Given the description of an element on the screen output the (x, y) to click on. 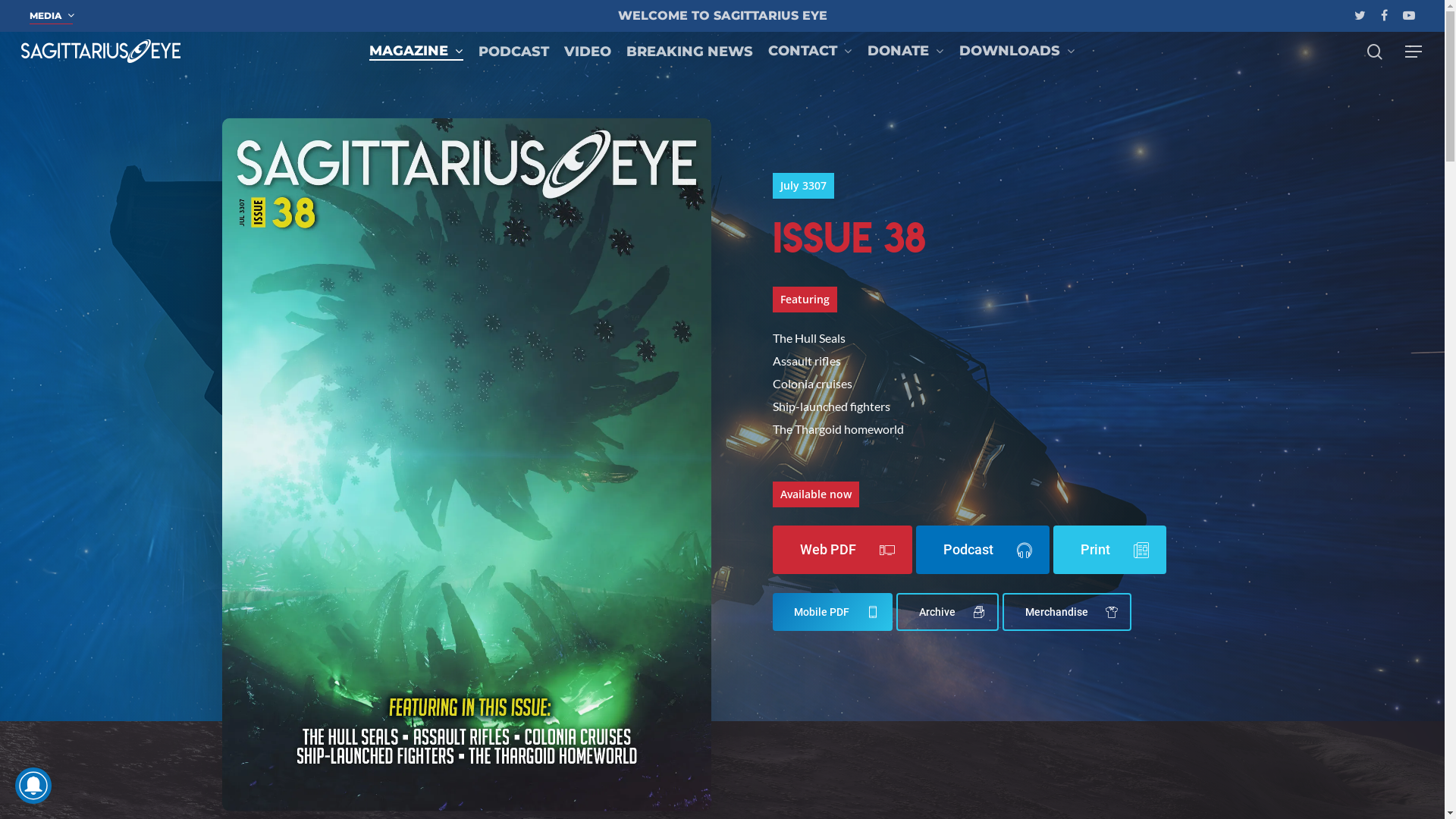
YouTube Element type: text (904, 668)
Send in a submission Element type: text (689, 591)
VIDEO Element type: text (587, 50)
Disclaimers & legal Element type: text (689, 678)
Twitter Element type: text (904, 610)
Merchandise Element type: text (1066, 611)
Web PDF Element type: text (842, 549)
Video Element type: text (904, 505)
Magazine Element type: text (904, 447)
Podcast Element type: text (904, 476)
Podcast Element type: text (982, 549)
Archive Element type: text (689, 620)
DOWNLOADS Element type: text (1017, 50)
MAGAZINE Element type: text (416, 50)
Homepage Element type: text (689, 447)
PODCAST Element type: text (513, 50)
MEDIA Element type: text (50, 15)
Print Element type: text (1109, 549)
BREAKING NEWS Element type: text (689, 50)
Archive Element type: text (947, 611)
The team Element type: text (689, 534)
Contact us Element type: text (689, 563)
Mobile PDF Element type: text (832, 611)
WELCOME TO SAGITTARIUS EYE Element type: text (721, 15)
Twitch Element type: text (904, 697)
Breaking News Element type: text (904, 534)
Patreon Element type: text (1119, 476)
Current patrons Element type: text (1119, 447)
Subscribe Element type: text (689, 505)
Paypal Element type: text (1119, 505)
Press pack Element type: text (689, 649)
Facebook Element type: text (904, 639)
Discord bot Element type: text (689, 476)
CONTACT Element type: text (810, 50)
DONATE Element type: text (905, 50)
